Given the description of an element on the screen output the (x, y) to click on. 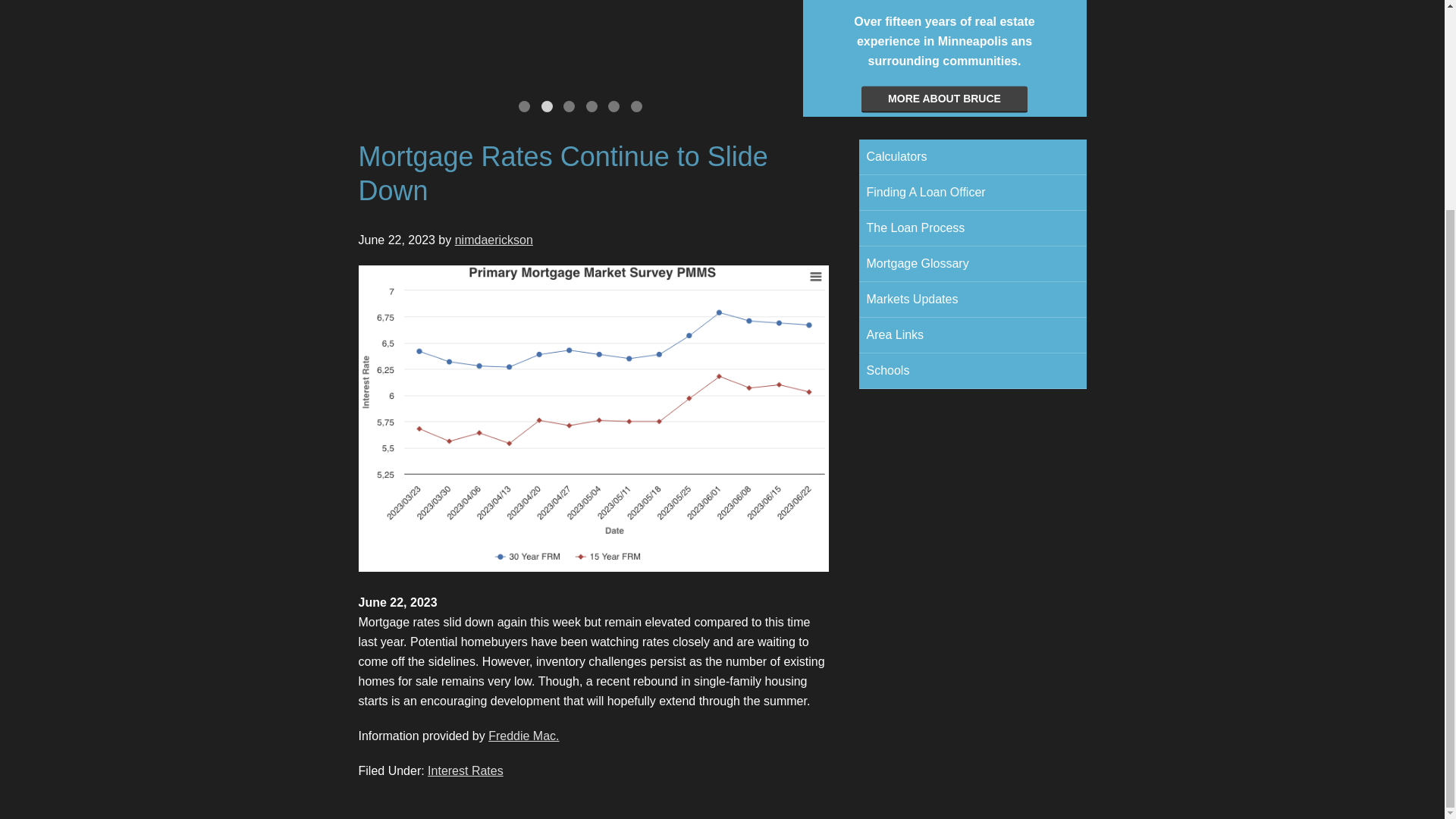
Interest Rates (465, 770)
Finding A Loan Officer (972, 192)
Schools (972, 370)
Mortgage Glossary (972, 263)
MORE ABOUT BRUCE (944, 99)
The Loan Process (972, 227)
nimdaerickson (493, 239)
Area Links (972, 334)
Markets Updates (972, 298)
Calculators (972, 156)
